Given the description of an element on the screen output the (x, y) to click on. 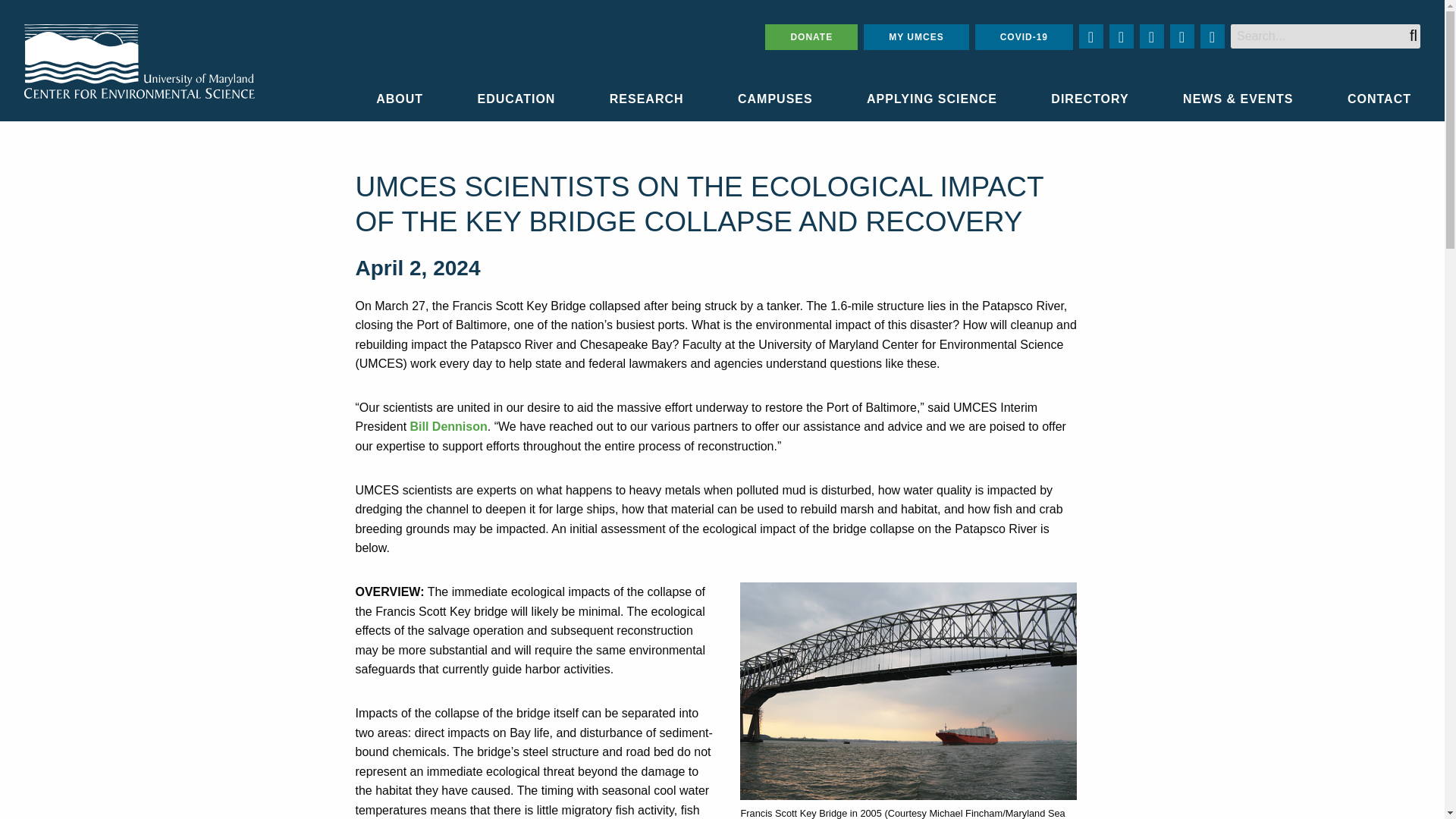
ABOUT (399, 98)
MY UMCES (915, 36)
EDUCATION (515, 98)
COVID-19 (1024, 36)
Enter the terms you wish to search for. (1325, 36)
CAMPUSES (775, 98)
DONATE (811, 36)
RESEARCH (647, 98)
